Given the description of an element on the screen output the (x, y) to click on. 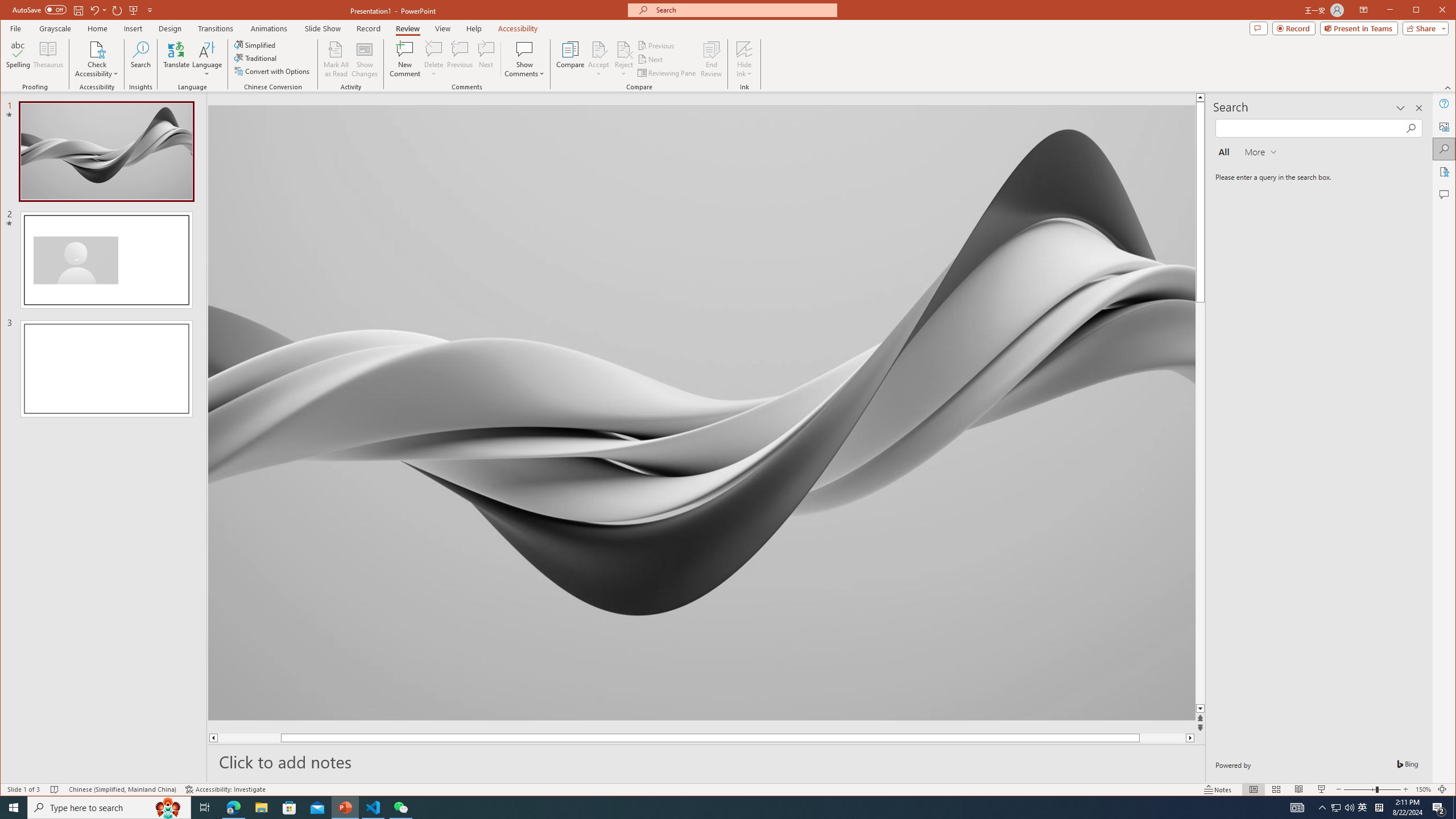
WeChat - 1 running window (400, 807)
Mark All as Read (335, 59)
